Given the description of an element on the screen output the (x, y) to click on. 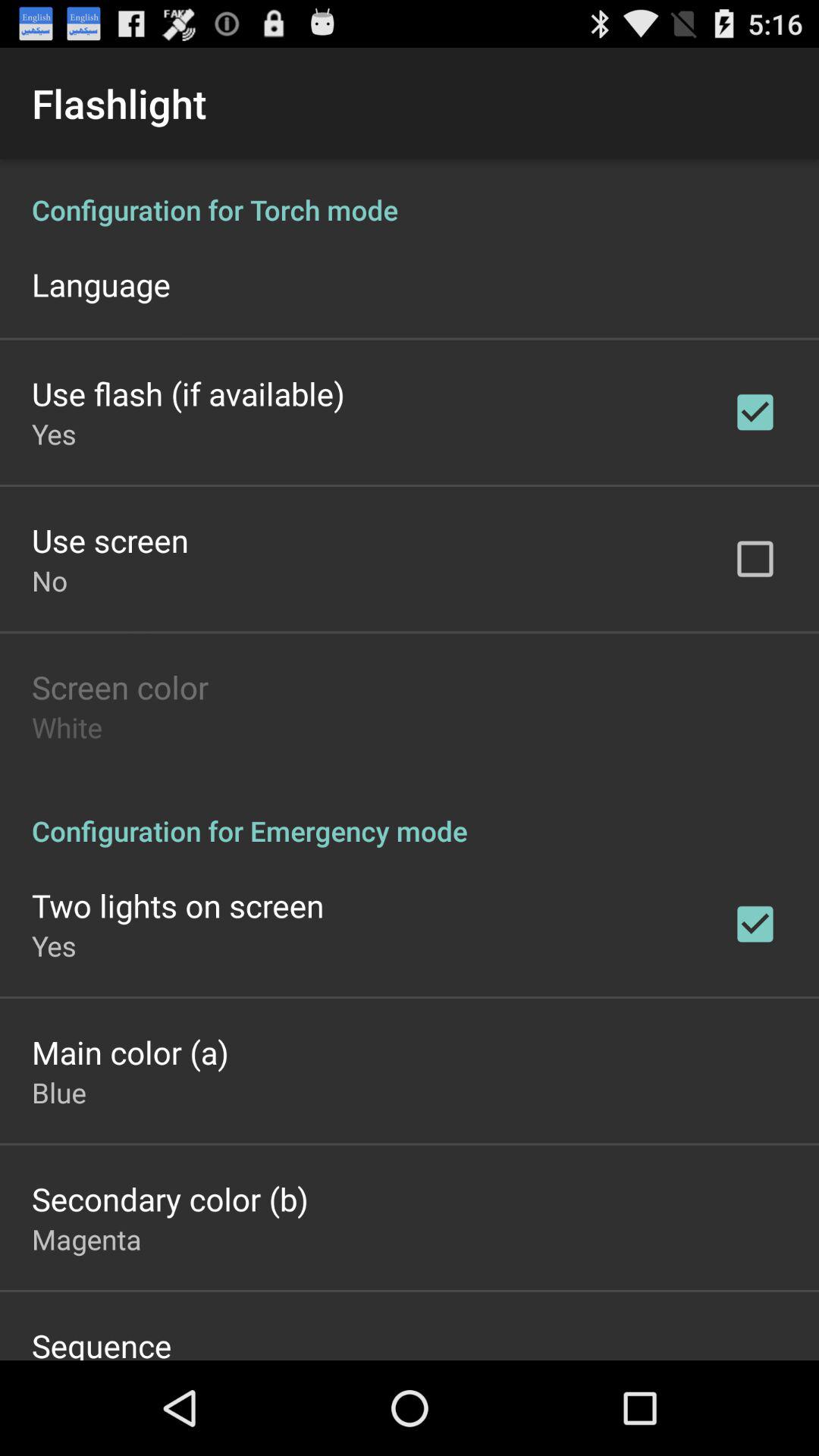
launch item above the blue icon (129, 1051)
